Given the description of an element on the screen output the (x, y) to click on. 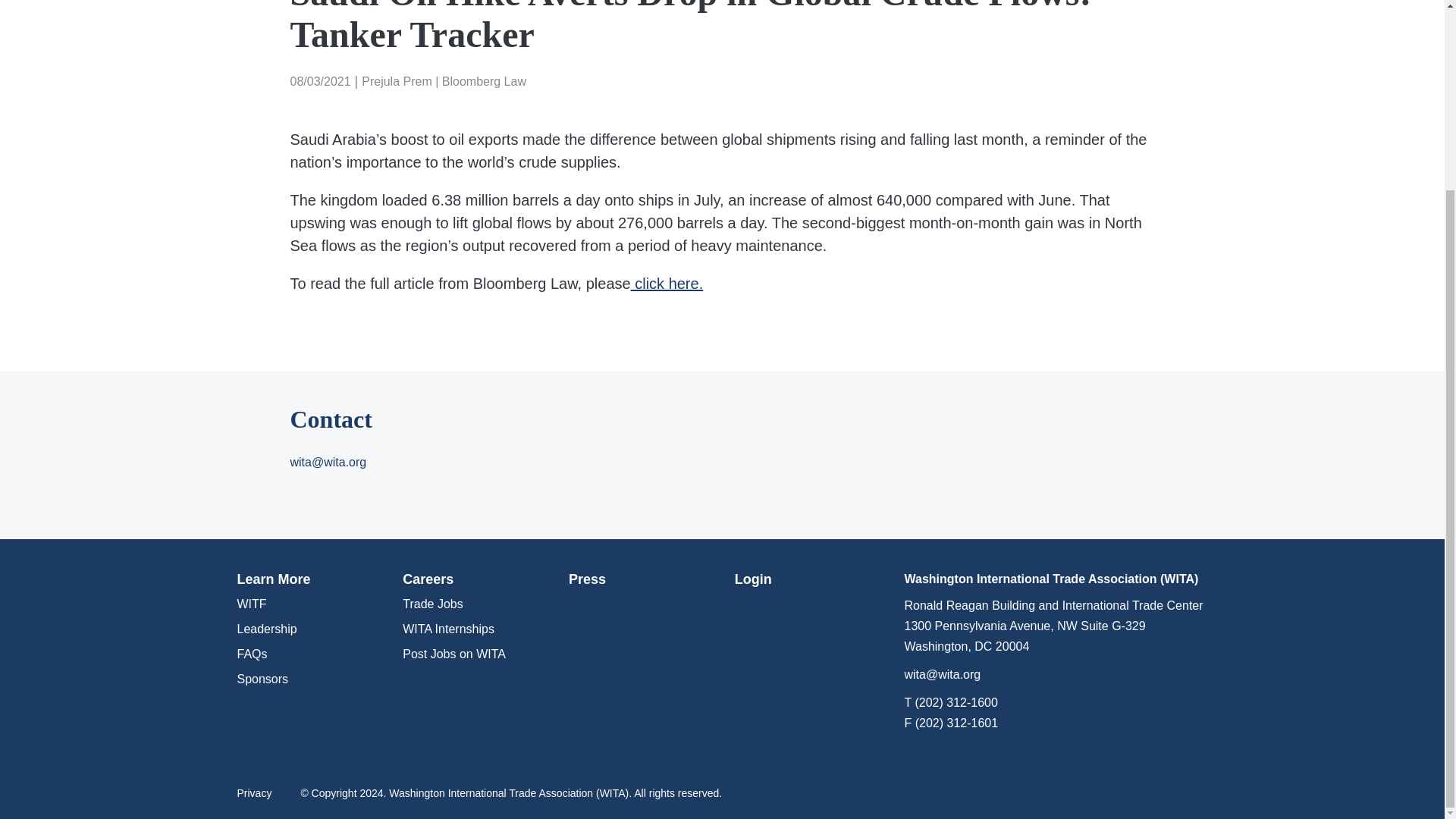
click here. (666, 283)
